Given the description of an element on the screen output the (x, y) to click on. 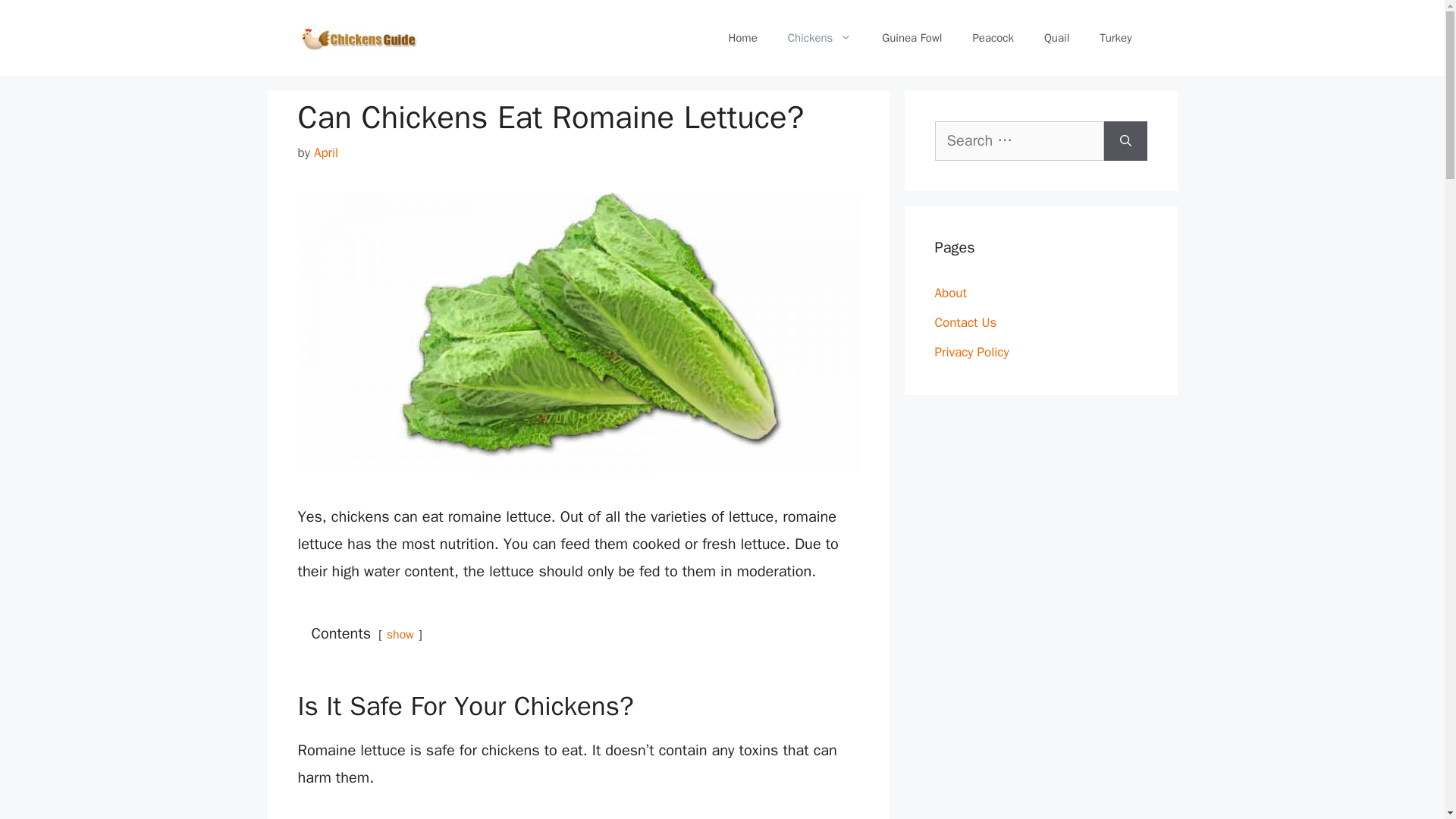
Search for: (1018, 140)
Contact Us (964, 322)
Home (742, 37)
Turkey (1115, 37)
View all posts by April (325, 152)
Guinea Fowl (911, 37)
Quail (1056, 37)
Privacy Policy (971, 351)
April (325, 152)
Peacock (992, 37)
Chickens (820, 37)
About (950, 293)
show (400, 634)
